Given the description of an element on the screen output the (x, y) to click on. 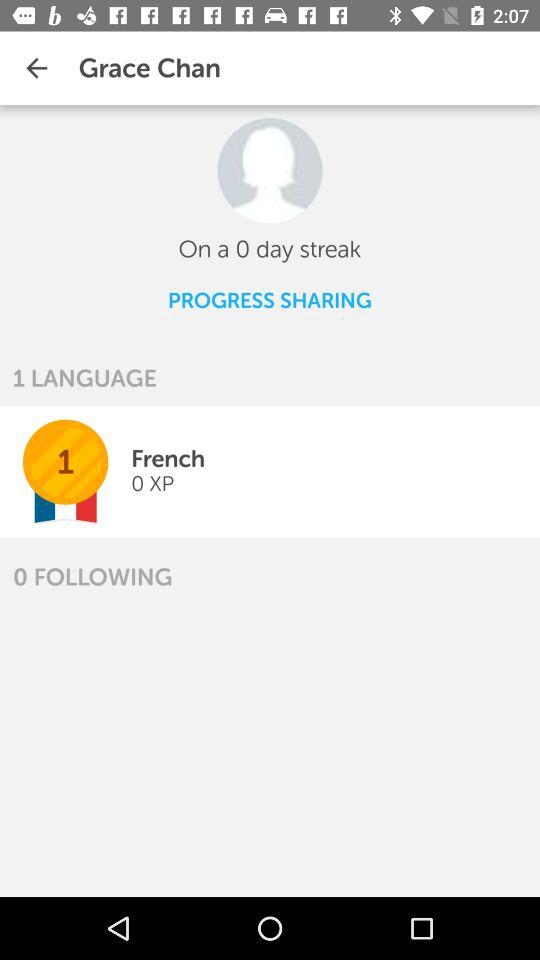
choose item above 1 language icon (36, 68)
